Given the description of an element on the screen output the (x, y) to click on. 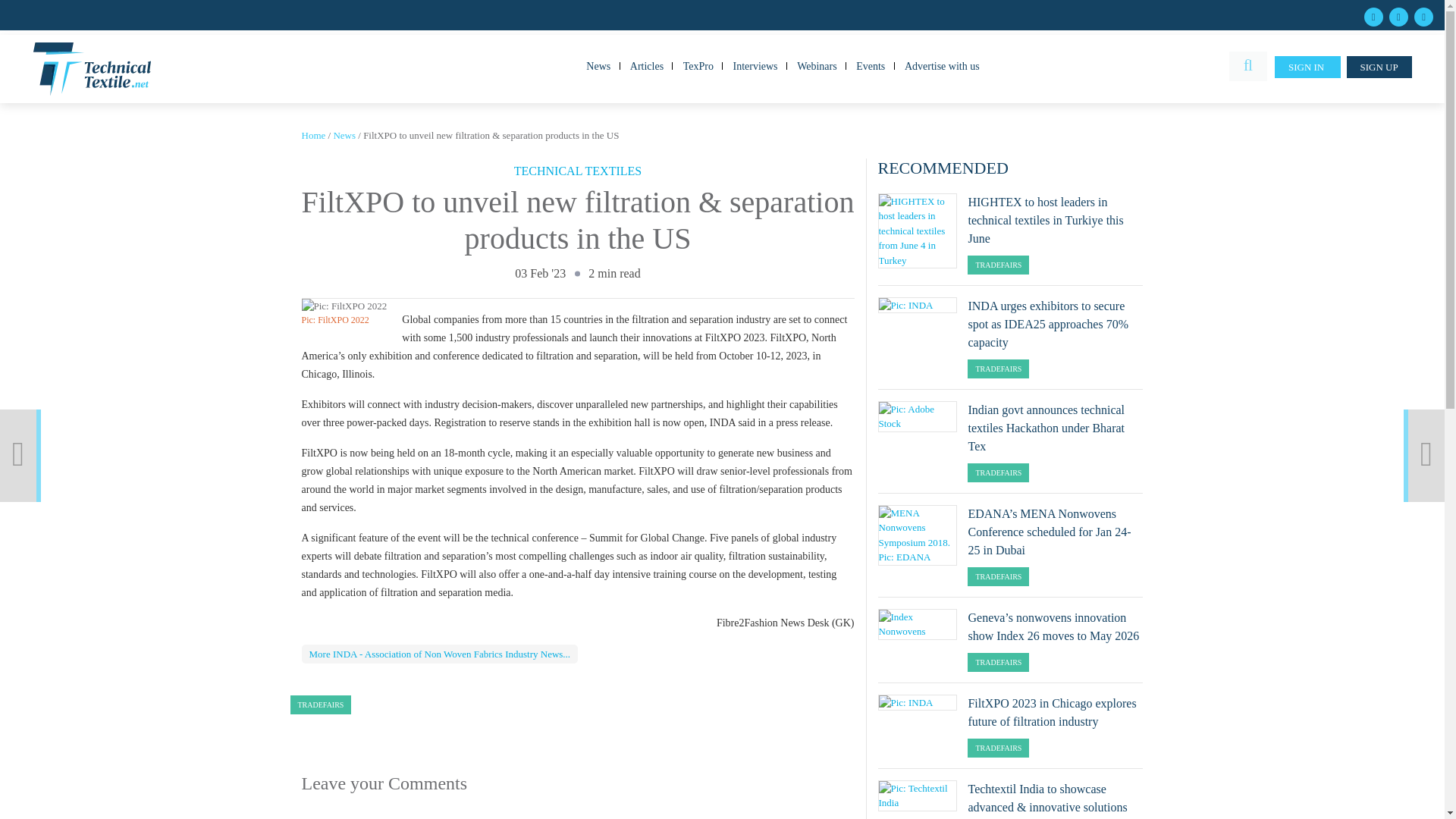
Webinars (816, 65)
Interviews (755, 65)
News (344, 134)
Articles (646, 65)
Home (313, 134)
TECHNICAL TEXTILES (577, 169)
TexPro (697, 65)
TRADEFAIRS (319, 704)
Index Nonwovens (917, 624)
MENA Nonwovens Symposium 2018. Pic: EDANA (917, 535)
Pic: Shutterstock (1438, 431)
News (344, 134)
SIGN UP (1379, 66)
